Given the description of an element on the screen output the (x, y) to click on. 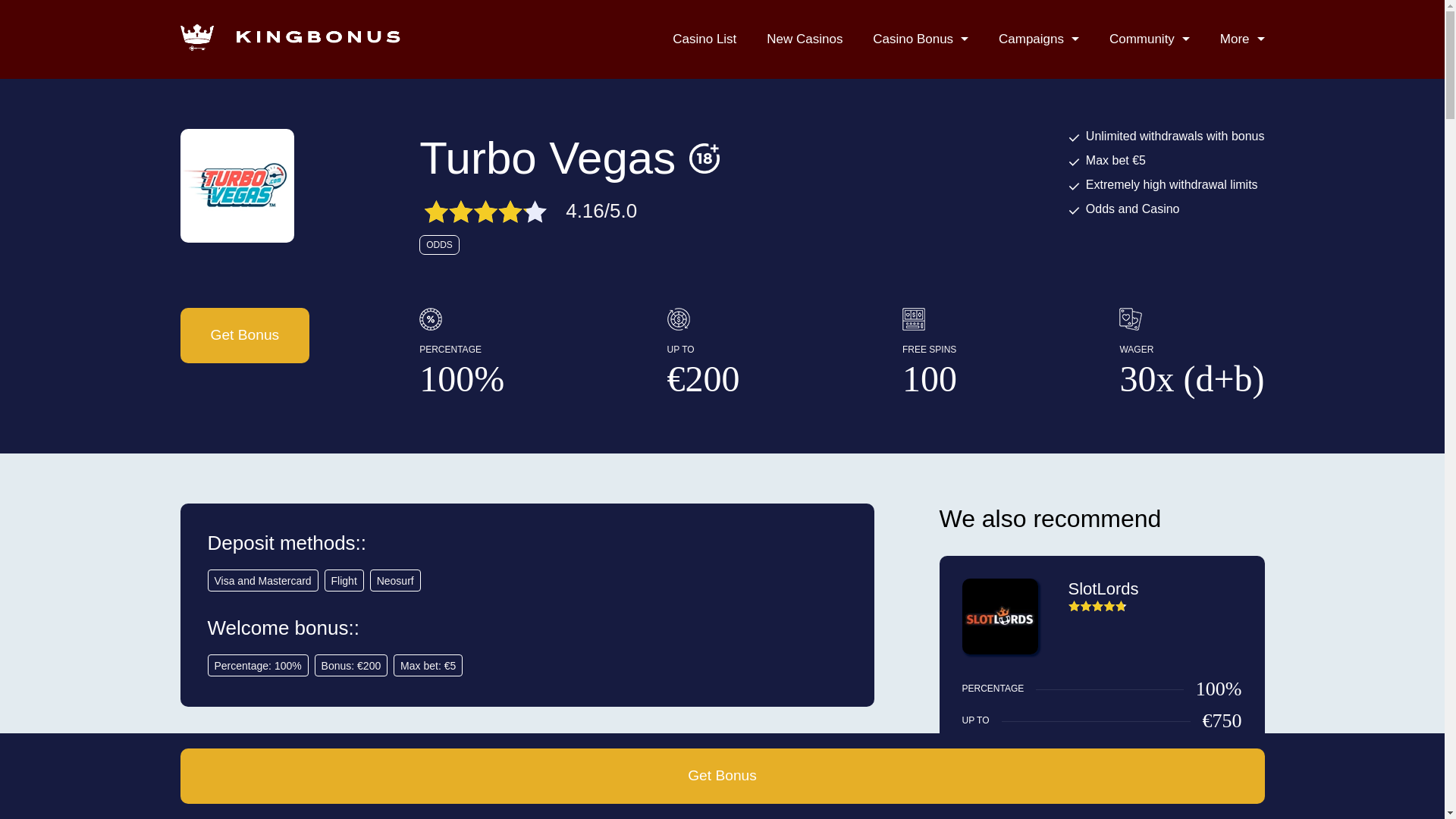
SlotLords (1102, 588)
4.16 Stars (485, 210)
Go to SlotLords (998, 650)
Community (1149, 38)
Kingbonus (290, 37)
Campaigns (1038, 38)
New Casinos (805, 38)
4.75 Stars (1096, 605)
Casino Bonus (920, 38)
